Given the description of an element on the screen output the (x, y) to click on. 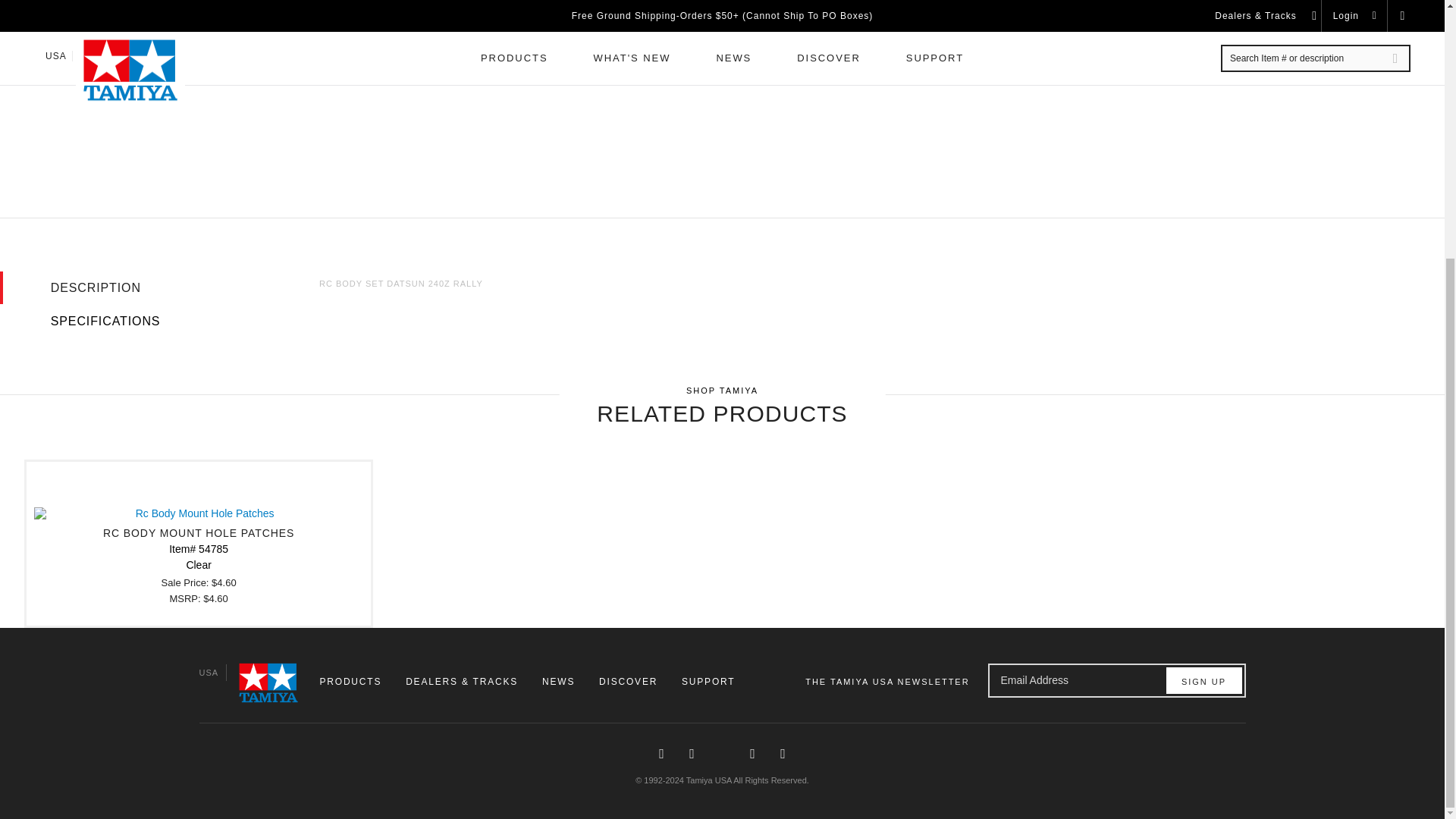
View Tamiya USA's Facebook (660, 753)
Rc Body Set Datsun 240Z Rally (282, 21)
Sign Up (1203, 680)
View Tamiya USA's Instagram (691, 753)
View Rc Body Mount Hole Patches page (198, 543)
Rc Body Set Datsun 240Z Rally (609, 101)
